Given the description of an element on the screen output the (x, y) to click on. 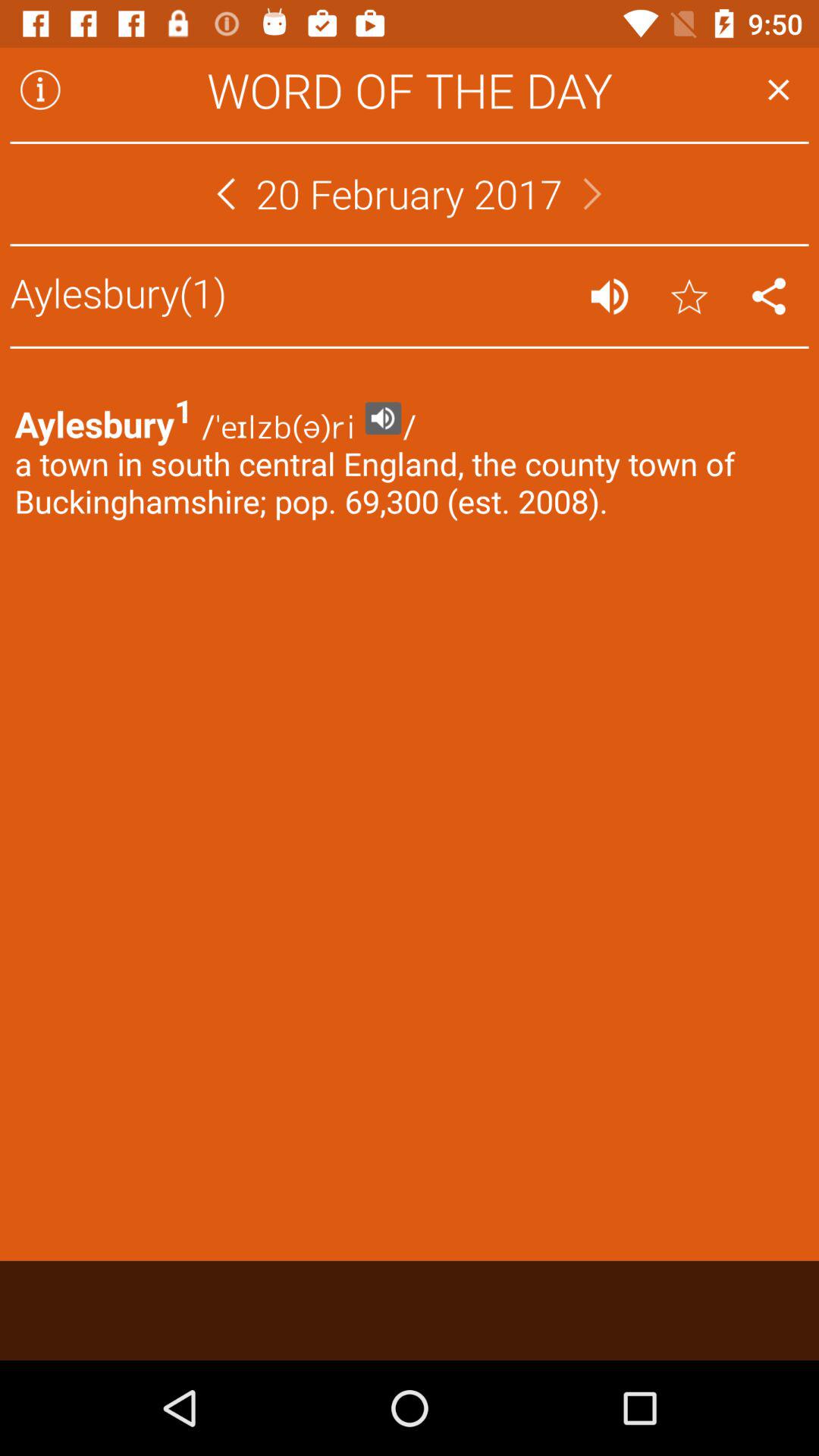
turn off app next to the word of the item (778, 89)
